Given the description of an element on the screen output the (x, y) to click on. 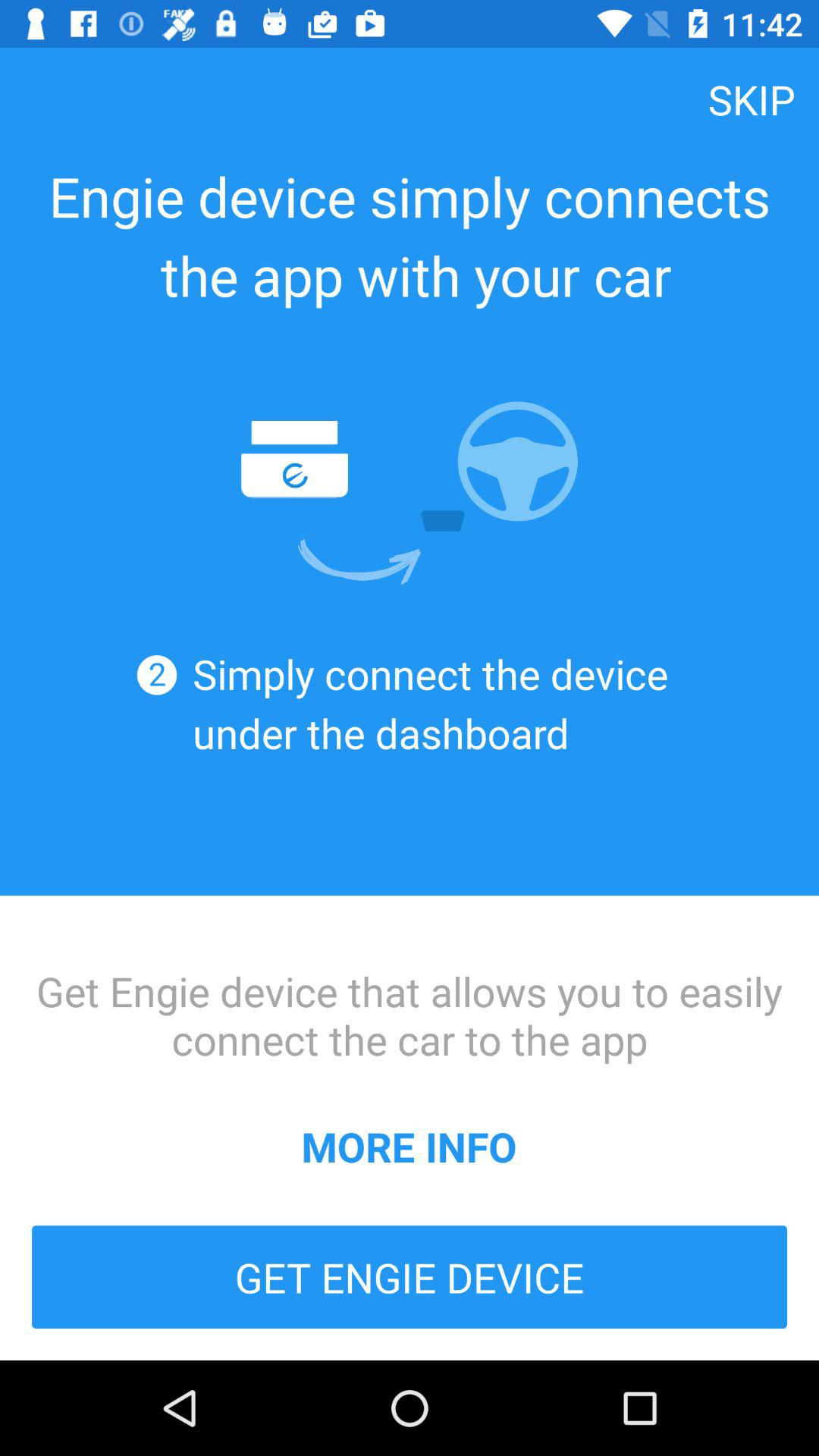
swipe to the skip (751, 98)
